Given the description of an element on the screen output the (x, y) to click on. 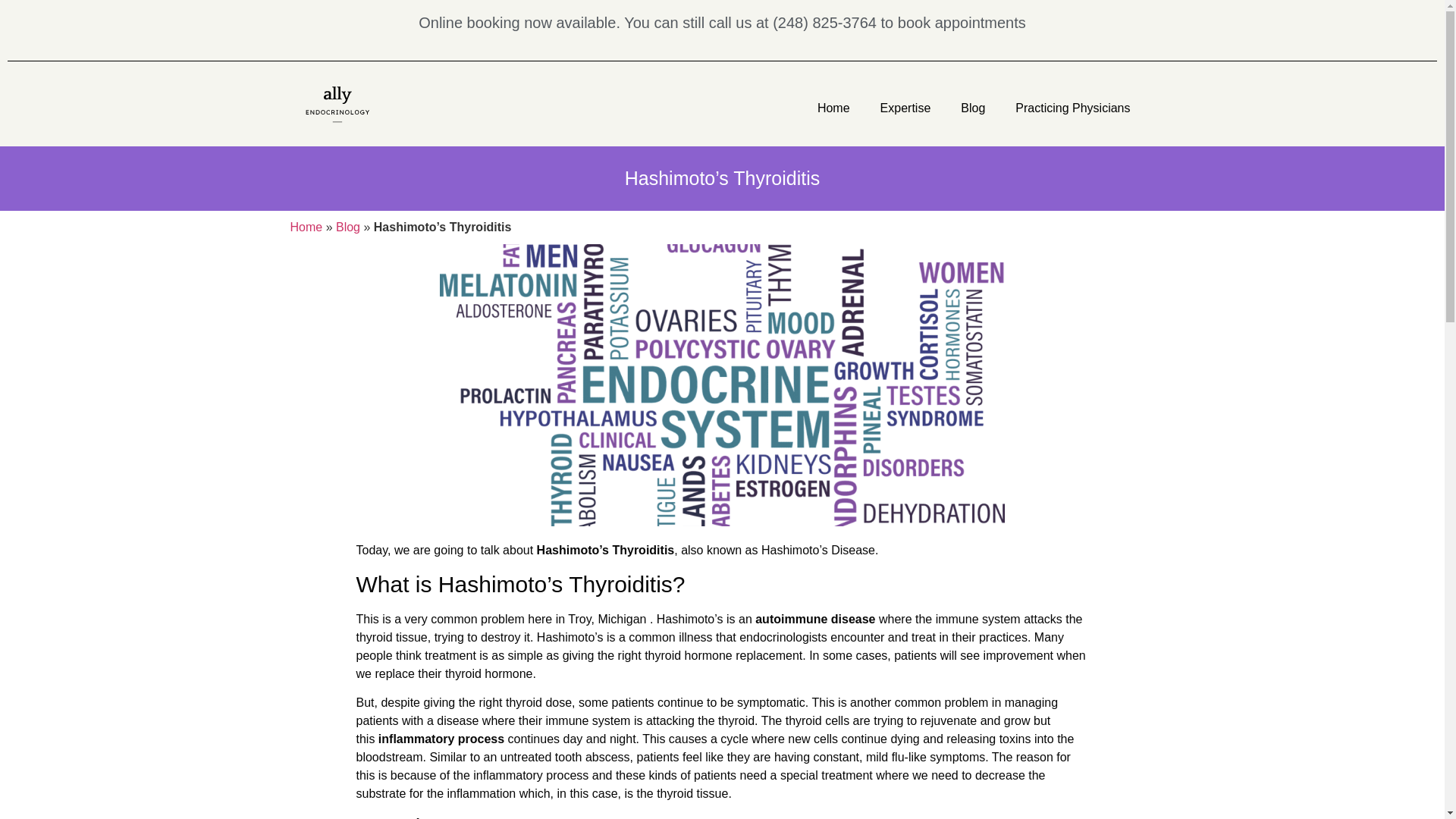
Blog (972, 108)
Expertise (905, 108)
Blog (347, 226)
Home (305, 226)
Practicing Physicians (1072, 108)
Home (833, 108)
